Given the description of an element on the screen output the (x, y) to click on. 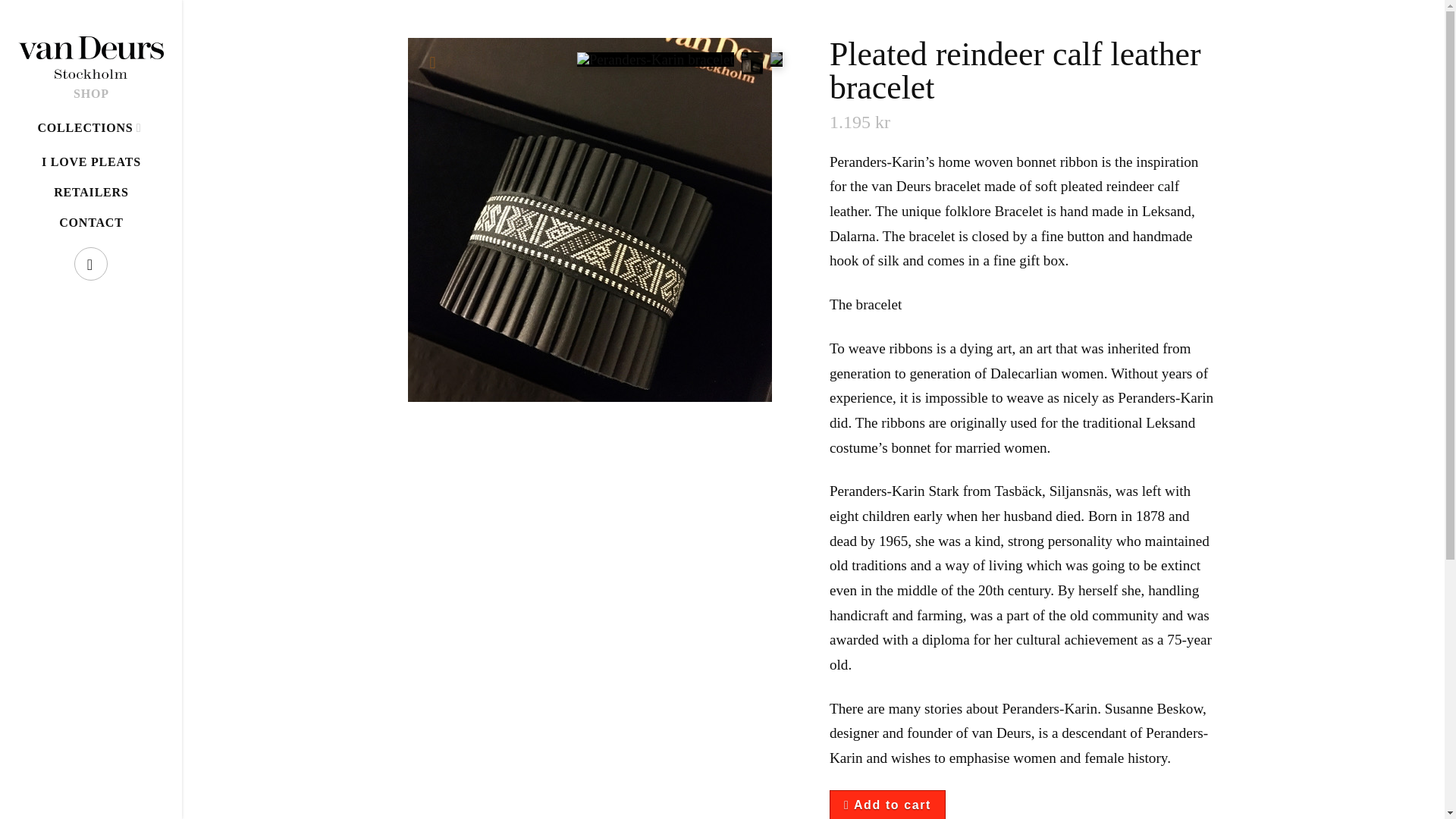
SHOP (91, 93)
CONTACT (91, 223)
Add to cart (886, 804)
I LOVE PLEATS (91, 162)
RETAILERS (91, 192)
COLLECTIONS (91, 127)
